Given the description of an element on the screen output the (x, y) to click on. 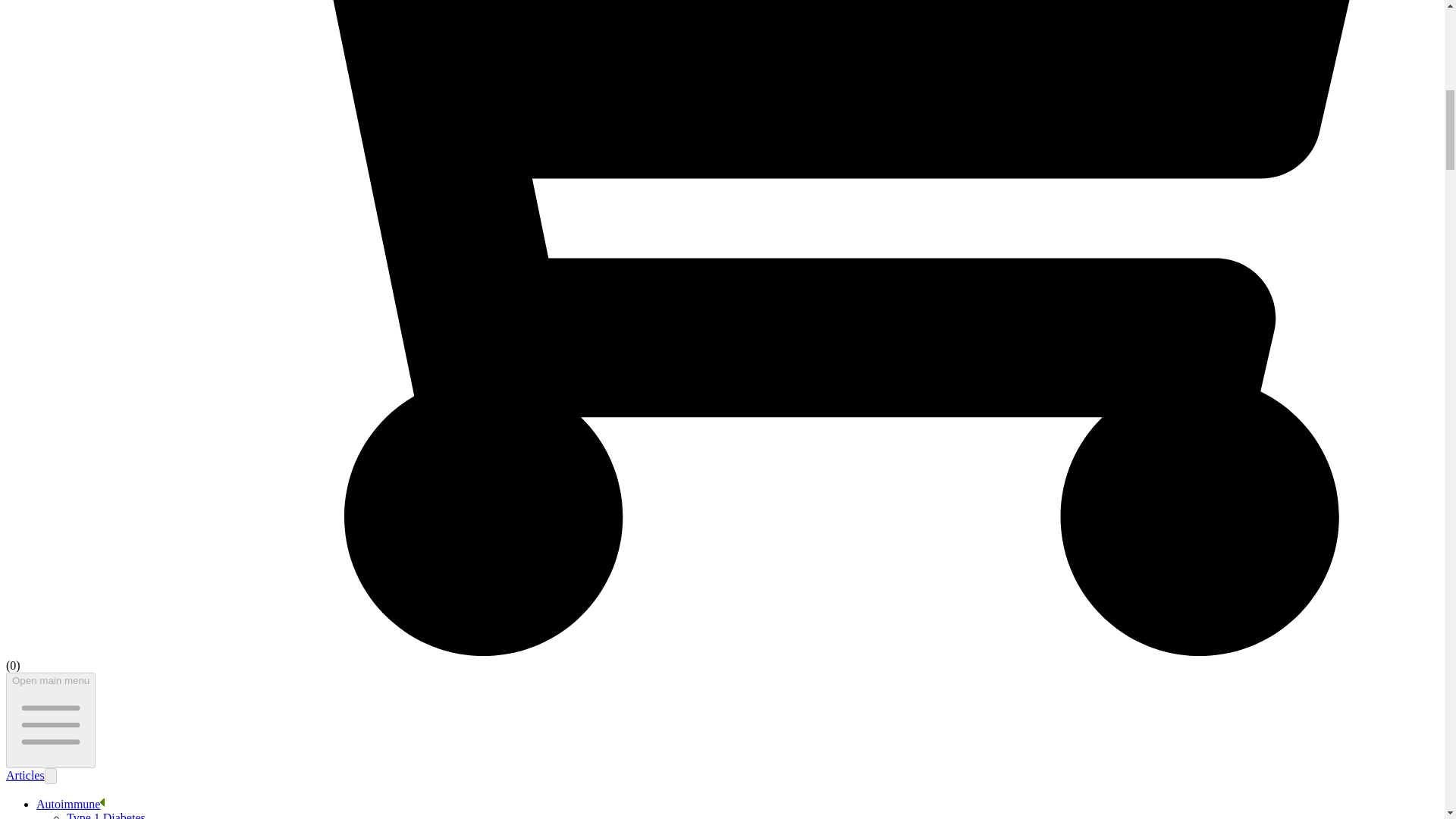
Type 1 Diabetes (105, 815)
Articles (25, 775)
Autoimmune (68, 803)
Open main menu (50, 720)
